Given the description of an element on the screen output the (x, y) to click on. 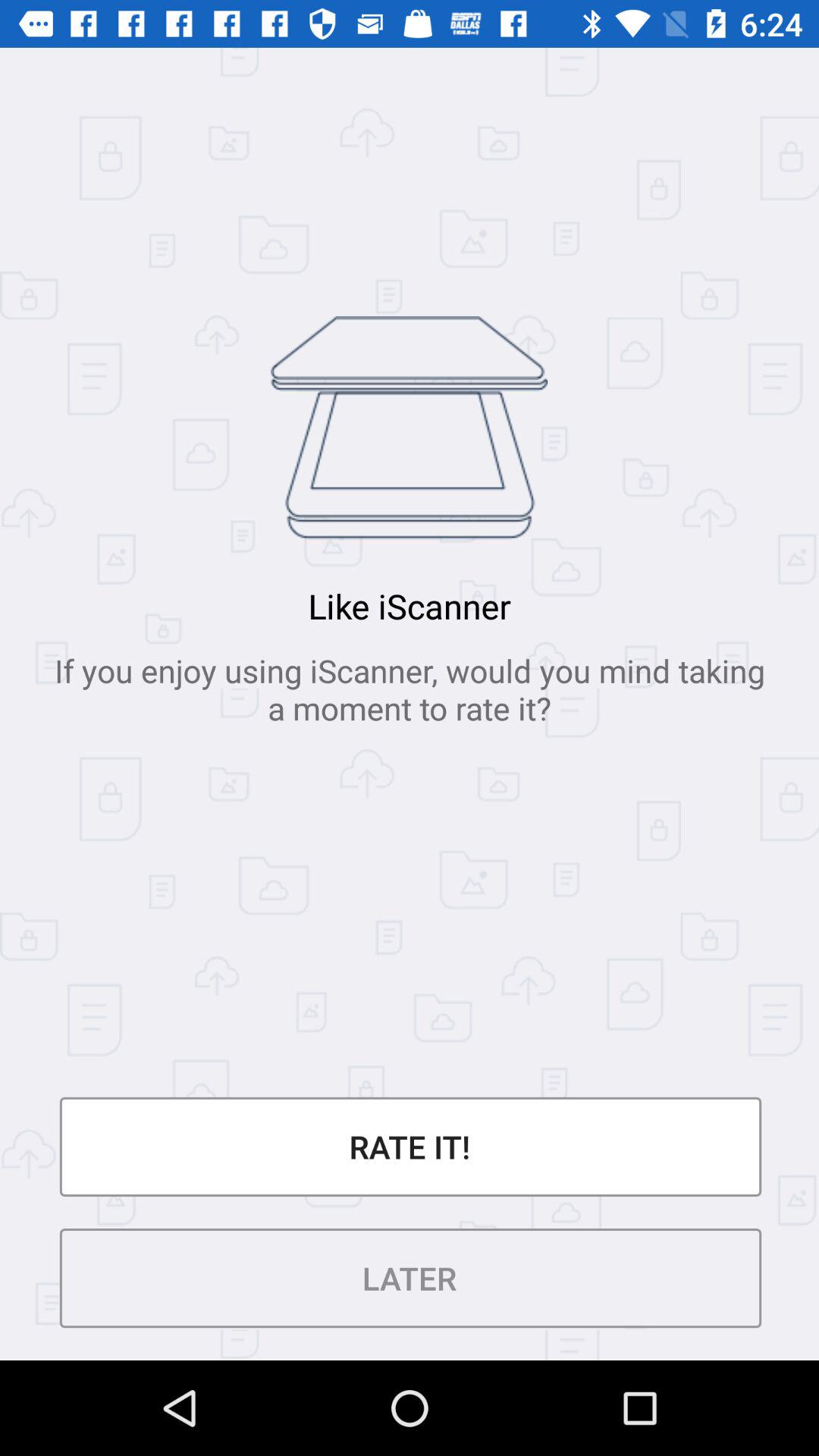
launch icon below rate it! item (409, 1278)
